Given the description of an element on the screen output the (x, y) to click on. 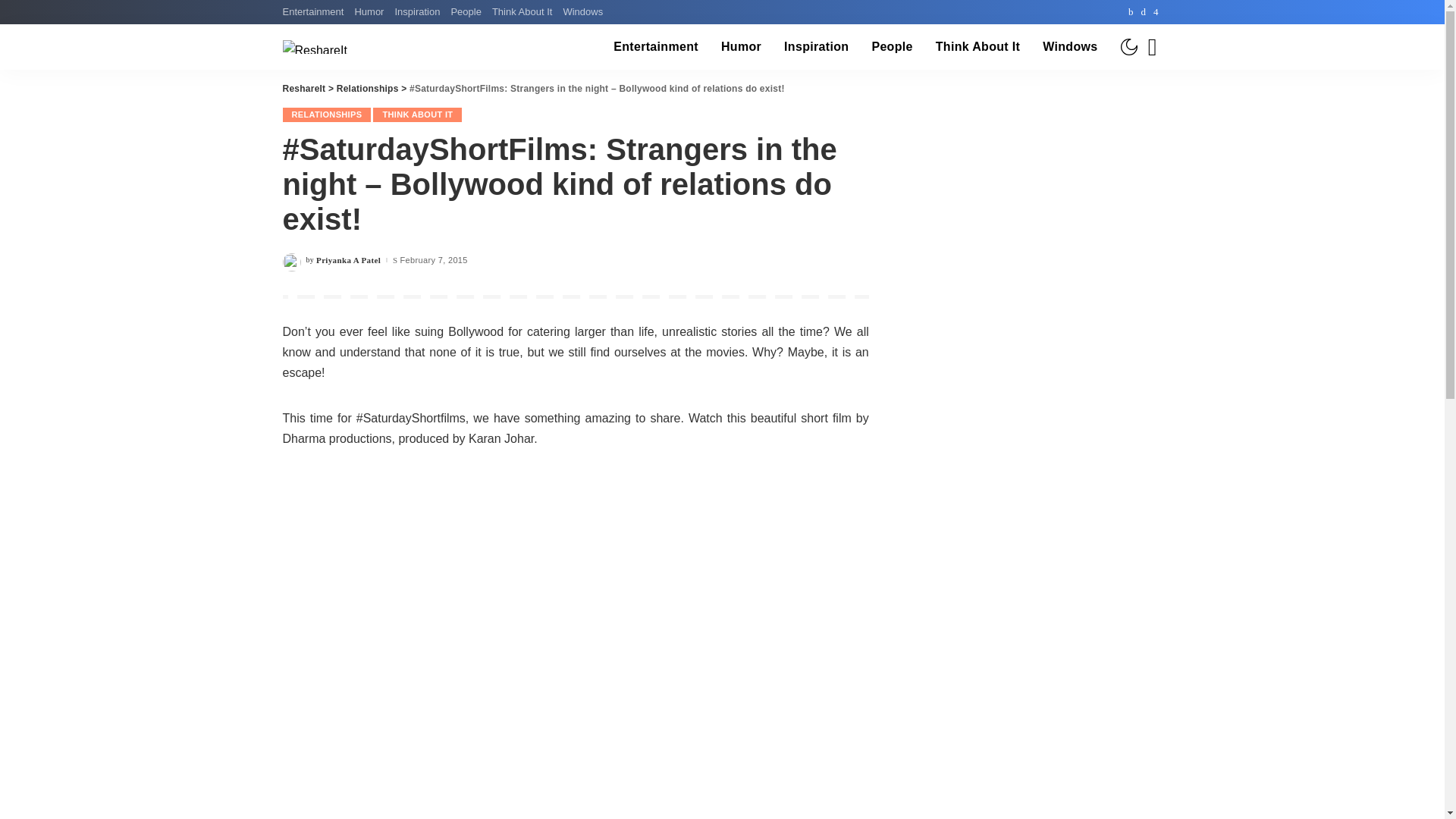
Windows (1069, 46)
Windows (582, 11)
Go to the Relationships Category archives. (367, 88)
People (891, 46)
Entertainment (656, 46)
Inspiration (816, 46)
2015-02-07T13:54:07-06:00 (433, 260)
Think About It (977, 46)
Entertainment (315, 11)
People (465, 11)
Inspiration (416, 11)
Think About It (521, 11)
Humor (741, 46)
Go to ReshareIt. (303, 88)
